Given the description of an element on the screen output the (x, y) to click on. 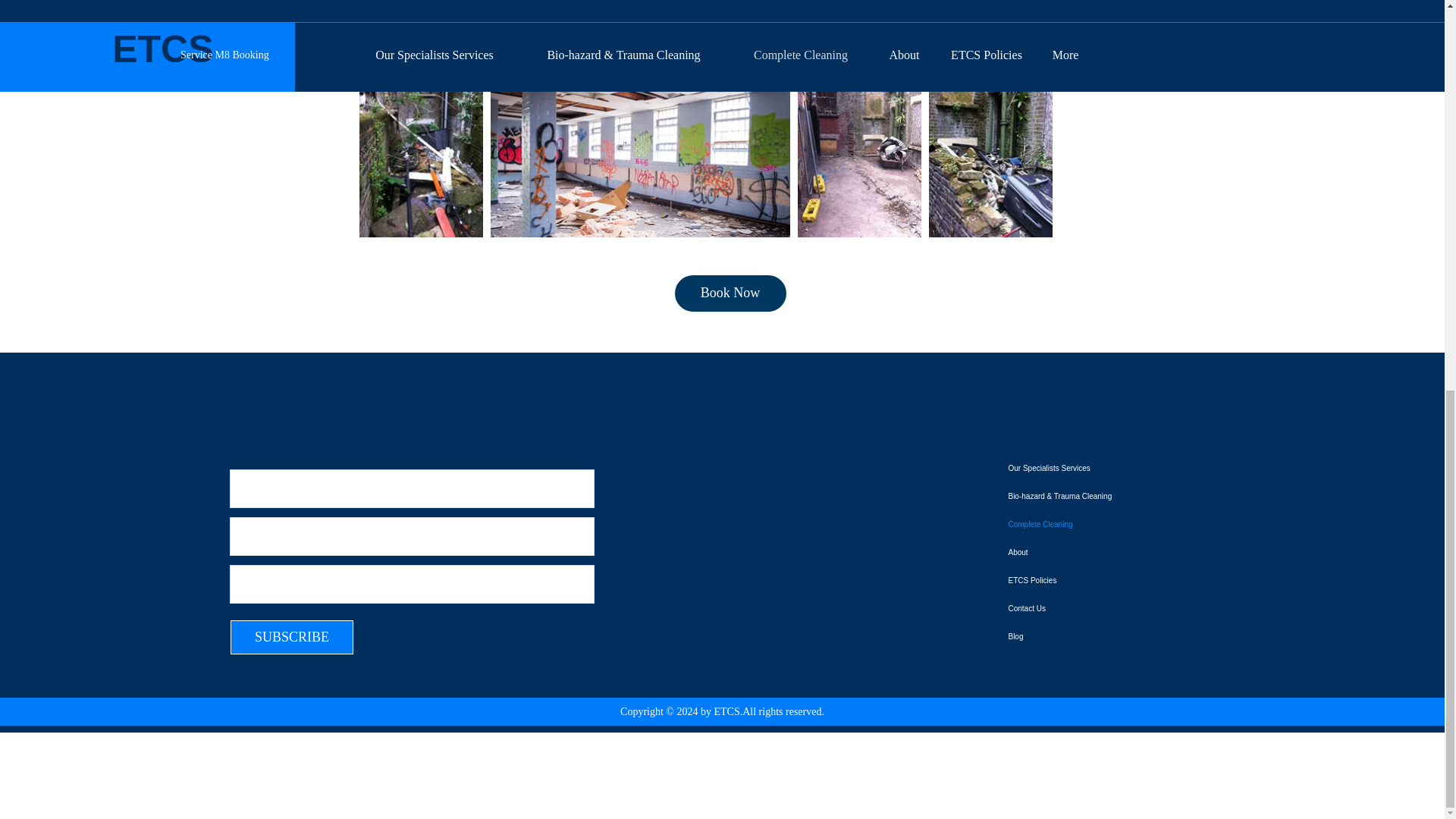
SUBSCRIBE (291, 636)
Book Now (730, 293)
Our Specialists Services (1106, 468)
